Given the description of an element on the screen output the (x, y) to click on. 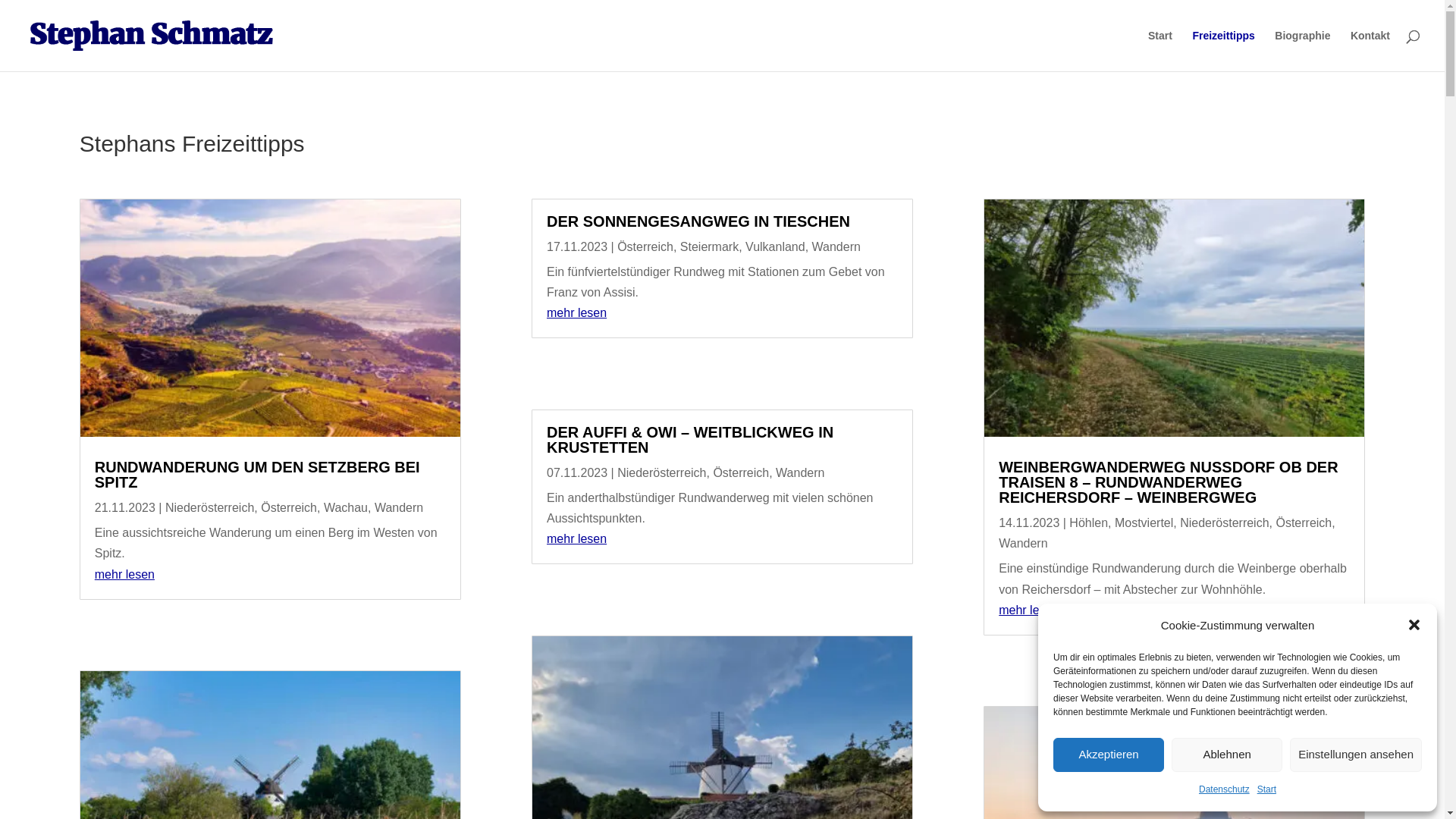
Start Element type: text (1160, 50)
Datenschutz Element type: text (1223, 789)
Ablehnen Element type: text (1226, 754)
mehr lesen Element type: text (576, 538)
Wandern Element type: text (1022, 542)
Kontakt Element type: text (1370, 50)
Freizeittipps Element type: text (1223, 50)
Wandern Element type: text (836, 246)
Wandern Element type: text (799, 472)
mehr lesen Element type: text (1028, 609)
Wandern Element type: text (398, 507)
Biographie Element type: text (1302, 50)
Steiermark Element type: text (709, 246)
Akzeptieren Element type: text (1108, 754)
Einstellungen ansehen Element type: text (1355, 754)
mehr lesen Element type: text (124, 573)
Start Element type: text (1266, 789)
DER SONNENGESANGWEG IN TIESCHEN Element type: text (698, 221)
Wachau Element type: text (345, 507)
mehr lesen Element type: text (576, 312)
Vulkanland Element type: text (775, 246)
RUNDWANDERUNG UM DEN SETZBERG BEI SPITZ Element type: text (257, 474)
Mostviertel Element type: text (1143, 522)
